Given the description of an element on the screen output the (x, y) to click on. 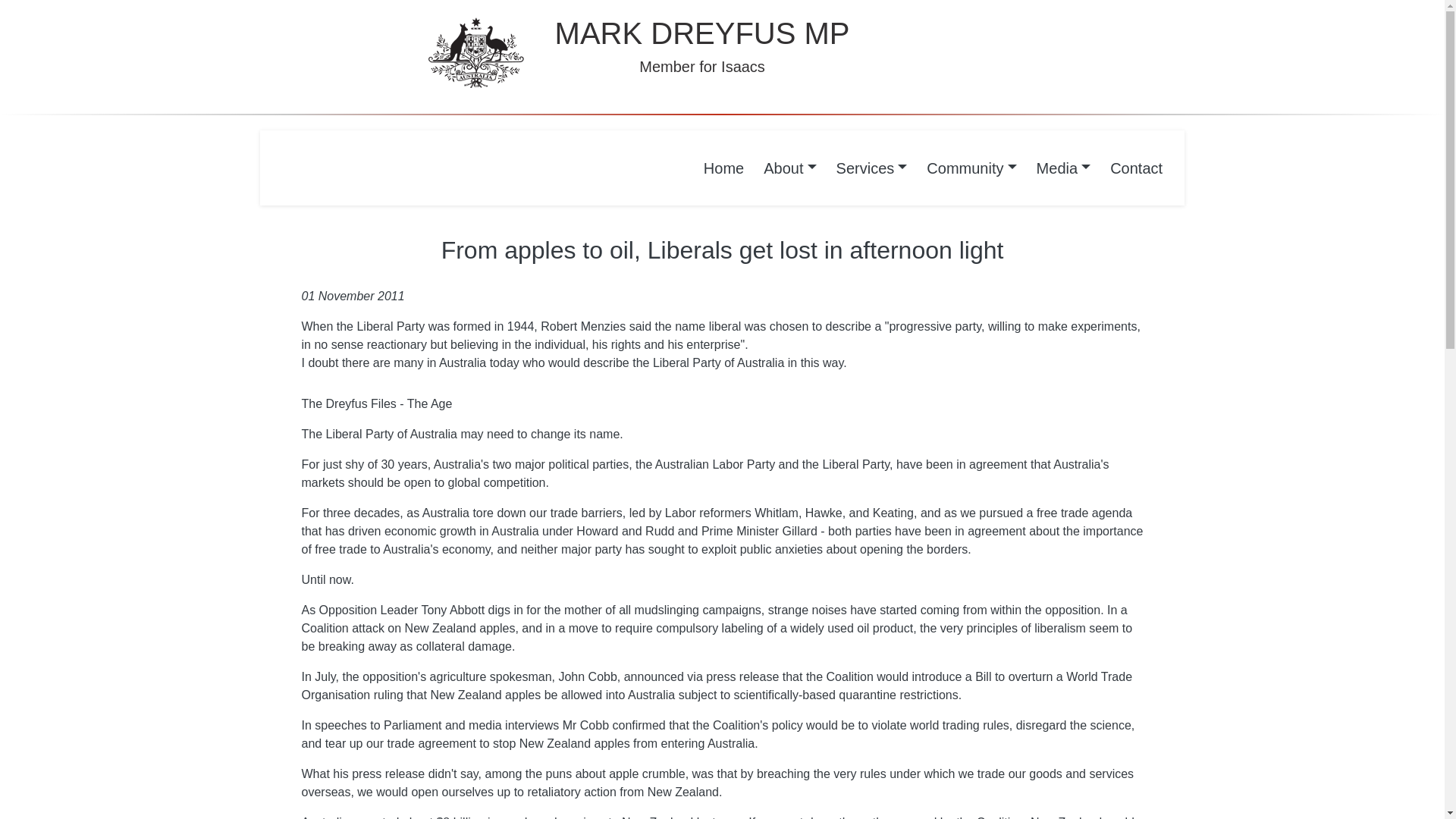
Contact (1136, 168)
Community (971, 168)
About (789, 168)
Services (872, 168)
Home (724, 168)
Media (1063, 168)
